Given the description of an element on the screen output the (x, y) to click on. 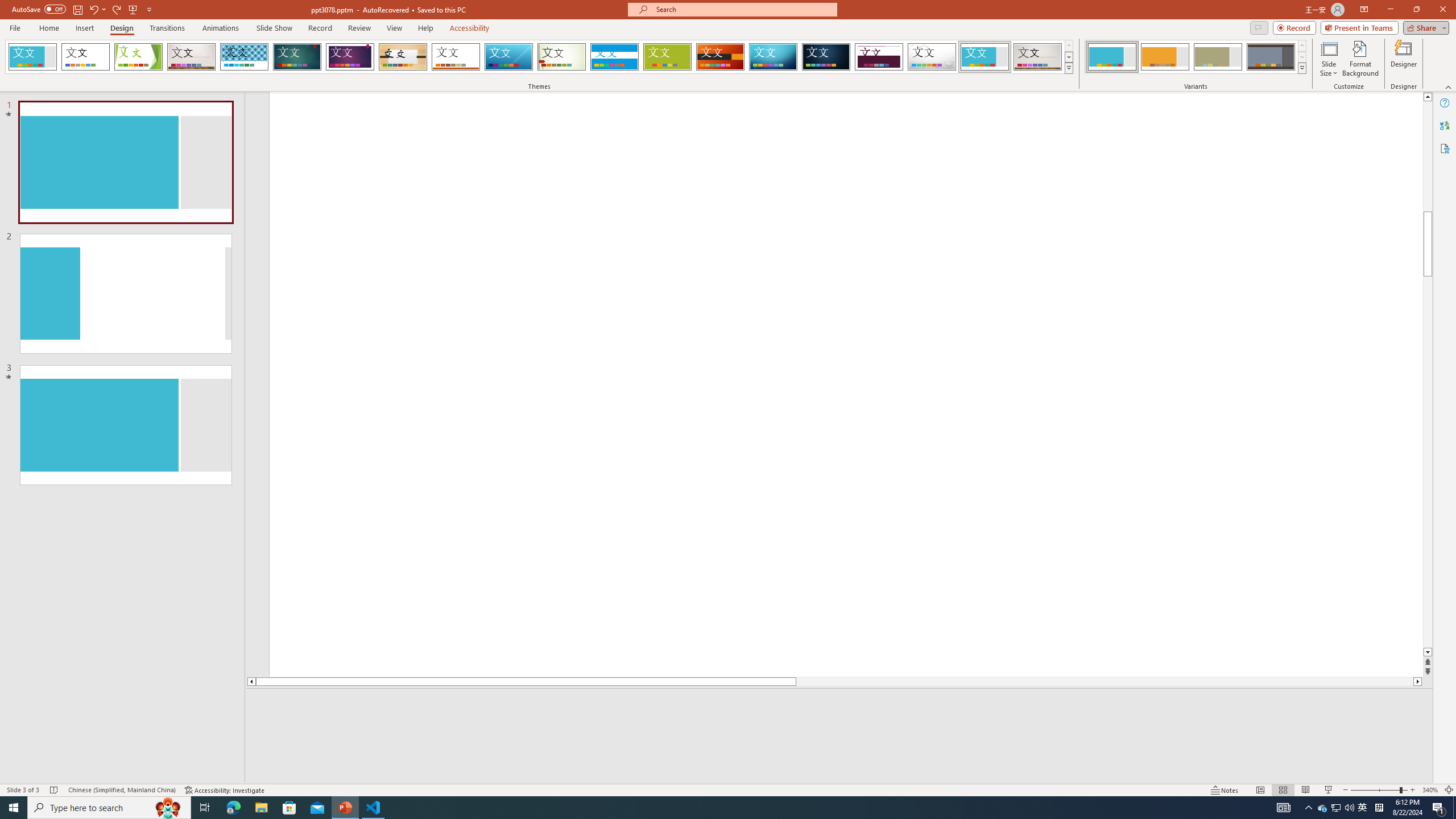
Retrospect (455, 56)
Themes (1068, 67)
TextBox 61 (1149, 231)
AutomationID: SlideThemesGallery (539, 56)
Frame Variant 3 (1217, 56)
Organic (403, 56)
